Given the description of an element on the screen output the (x, y) to click on. 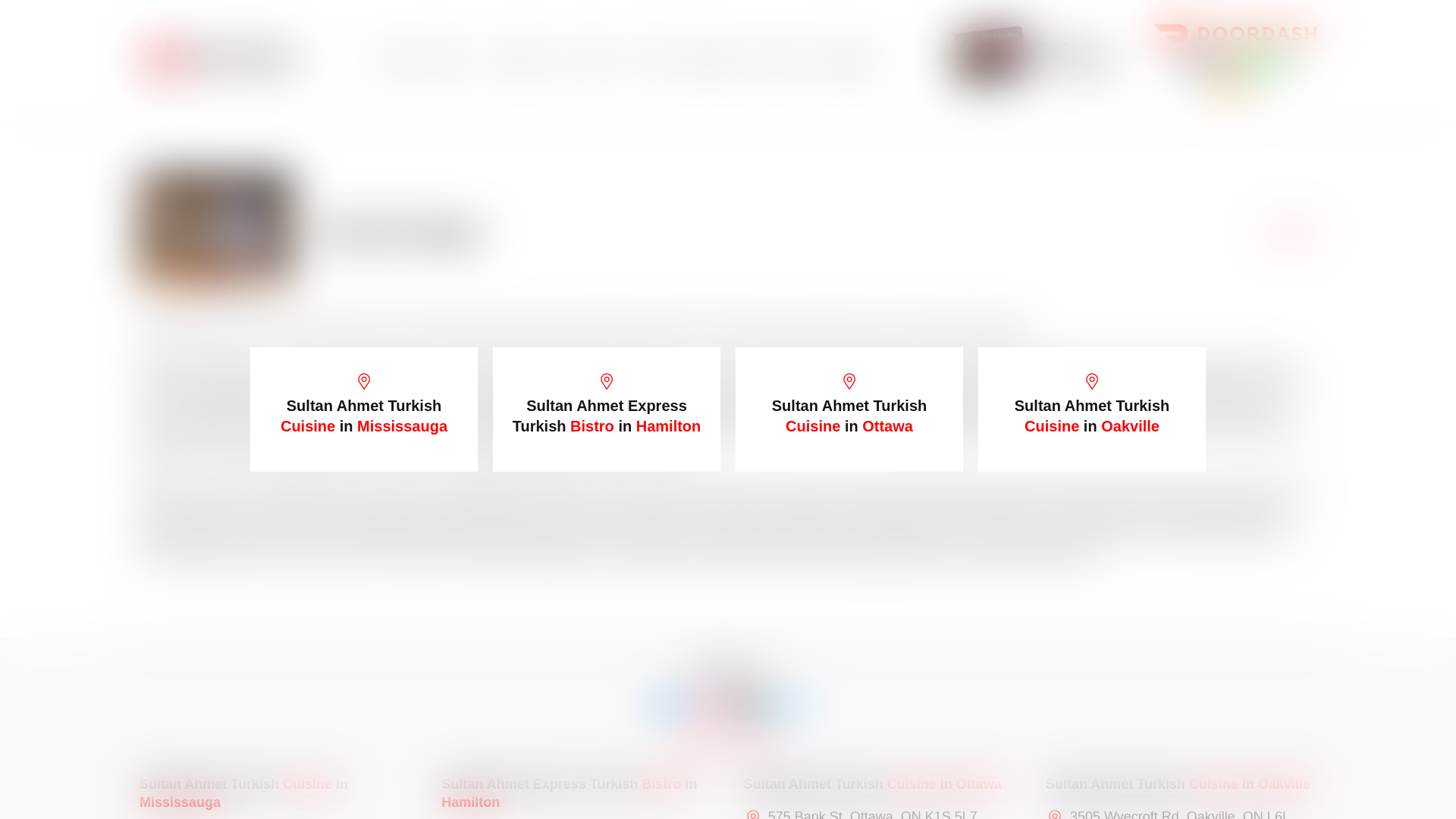
Content (527, 59)
More (599, 59)
Reviews (712, 59)
Gift Cards (1065, 47)
Content (527, 59)
FAQ (655, 59)
Sultan Ahmet Express Turkish Bistro in Hamilton (606, 409)
Career (777, 59)
Sultan Ahmet Turkish Cuisine in Ottawa (848, 409)
Home (392, 59)
